Given the description of an element on the screen output the (x, y) to click on. 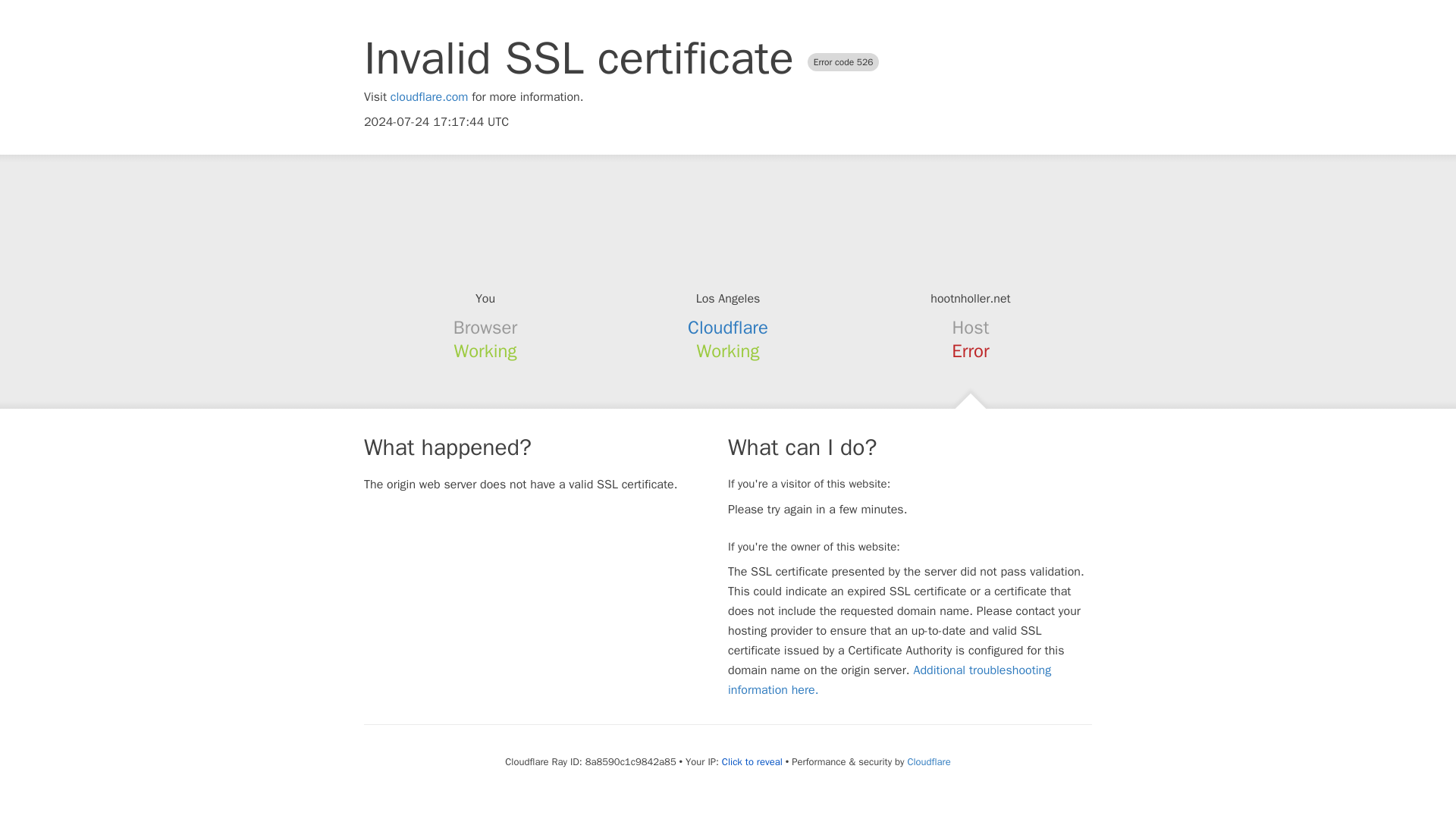
Additional troubleshooting information here. (889, 679)
Click to reveal (752, 762)
Cloudflare (727, 327)
Cloudflare (928, 761)
cloudflare.com (429, 96)
